Given the description of an element on the screen output the (x, y) to click on. 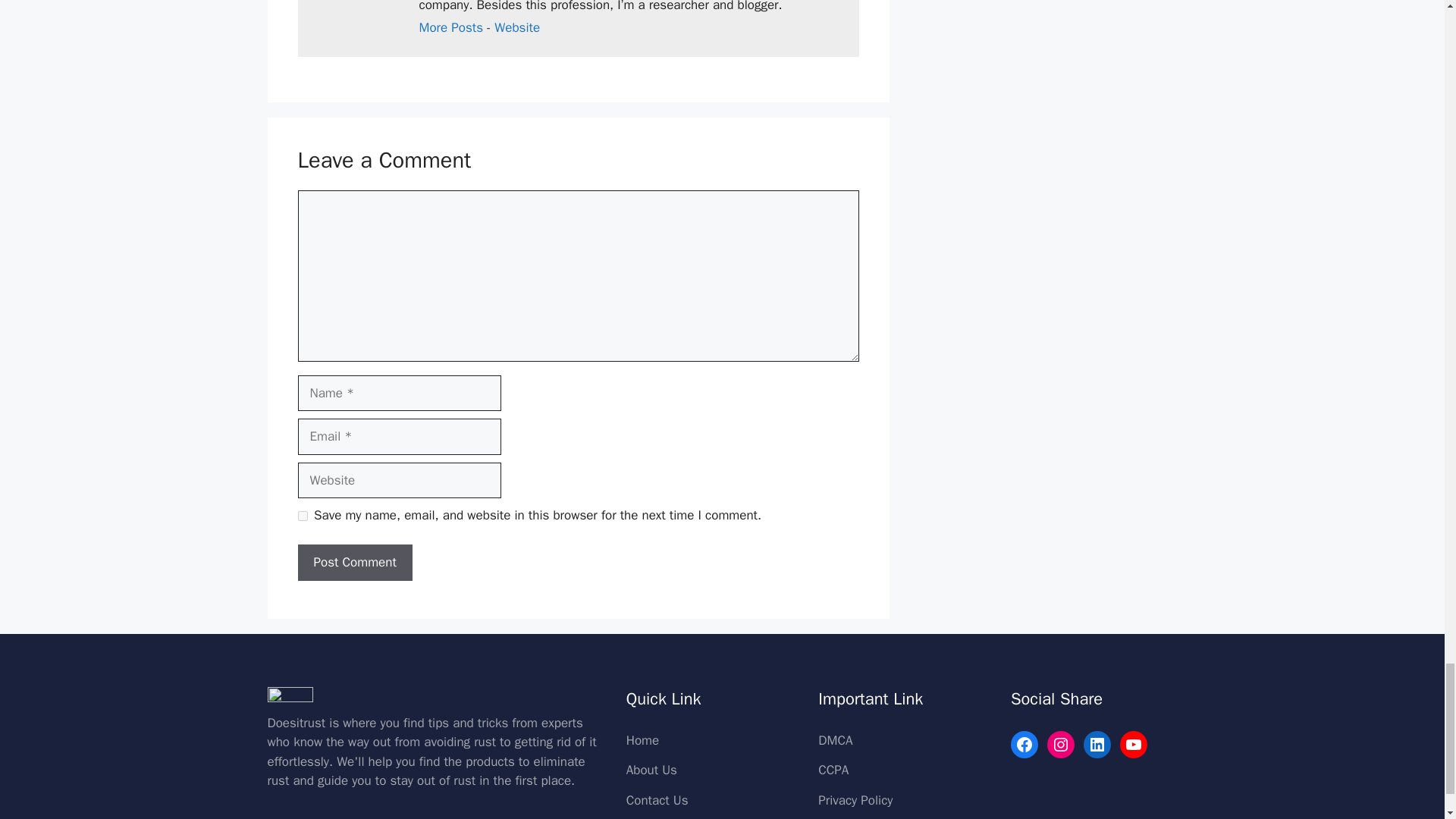
Post Comment (354, 562)
CCPA (833, 770)
Privacy Policy (855, 800)
About Us (651, 770)
More posts by Evan Cooper (451, 27)
yes (302, 515)
More Posts (451, 27)
Post Comment (354, 562)
DMCA (834, 740)
Website (517, 27)
